Given the description of an element on the screen output the (x, y) to click on. 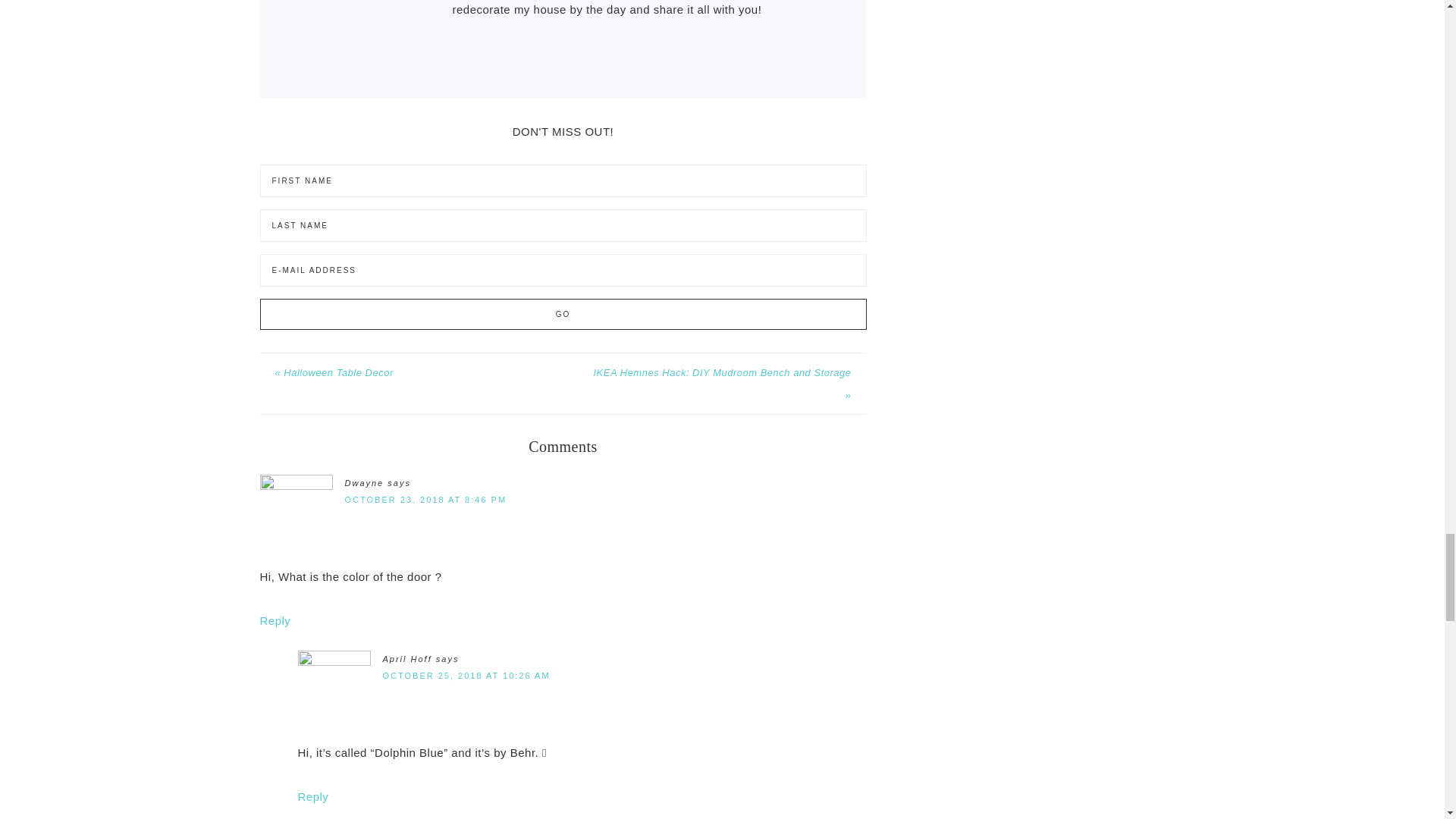
Go (562, 314)
OCTOBER 23, 2018 AT 8:46 PM (424, 499)
Reply (313, 796)
OCTOBER 25, 2018 AT 10:26 AM (465, 675)
Go (562, 314)
Reply (274, 620)
